Given the description of an element on the screen output the (x, y) to click on. 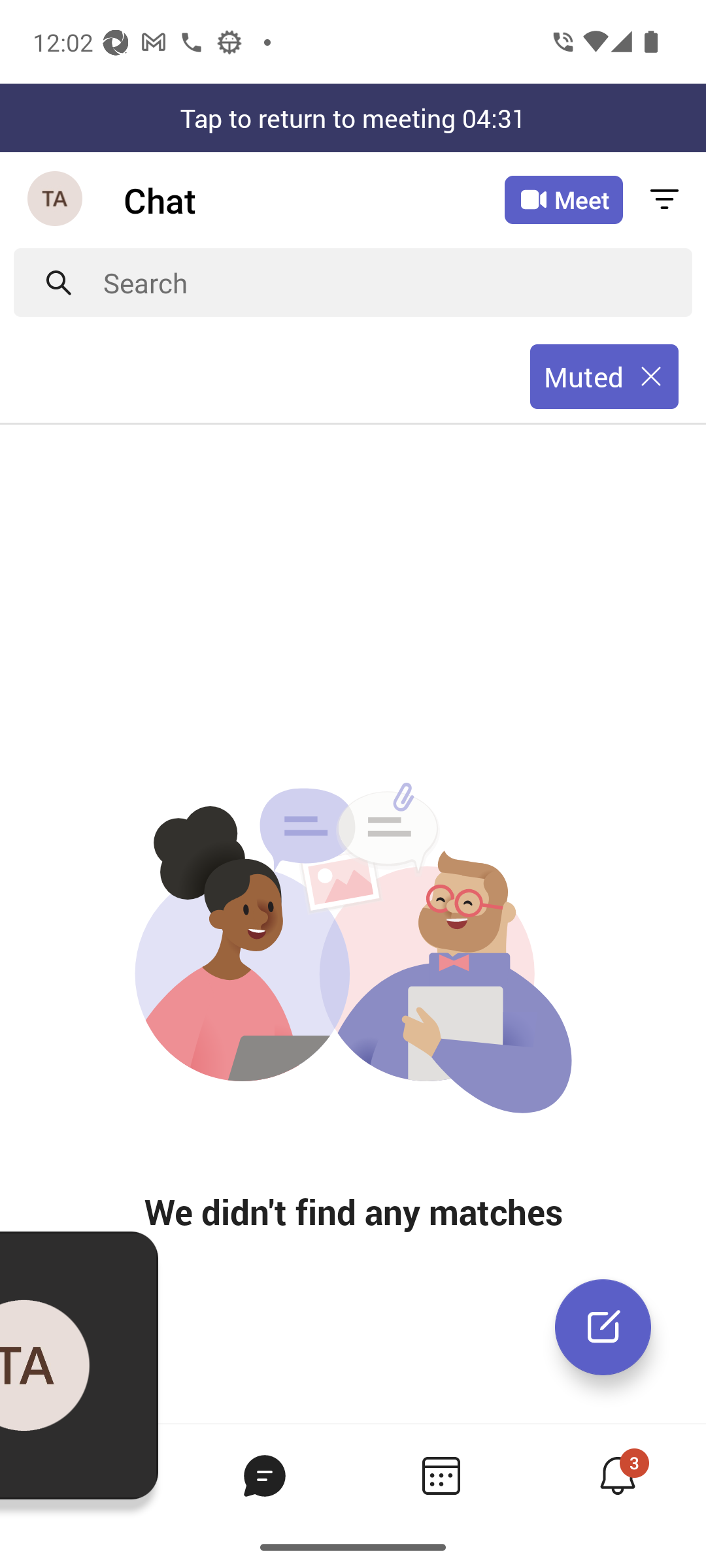
Tap to return to meeting 04:31 (353, 117)
Filter chat messages (664, 199)
Navigation (56, 199)
Meet Meet now or join with an ID (563, 199)
Search (397, 281)
Muted Remove Muted filter (604, 376)
New chat (602, 1327)
Chat tab, 2 of 4 (264, 1475)
Calendar tab,3 of 4, not selected (441, 1475)
Activity tab,4 of 4, not selected, 3 new 3 (617, 1475)
